Given the description of an element on the screen output the (x, y) to click on. 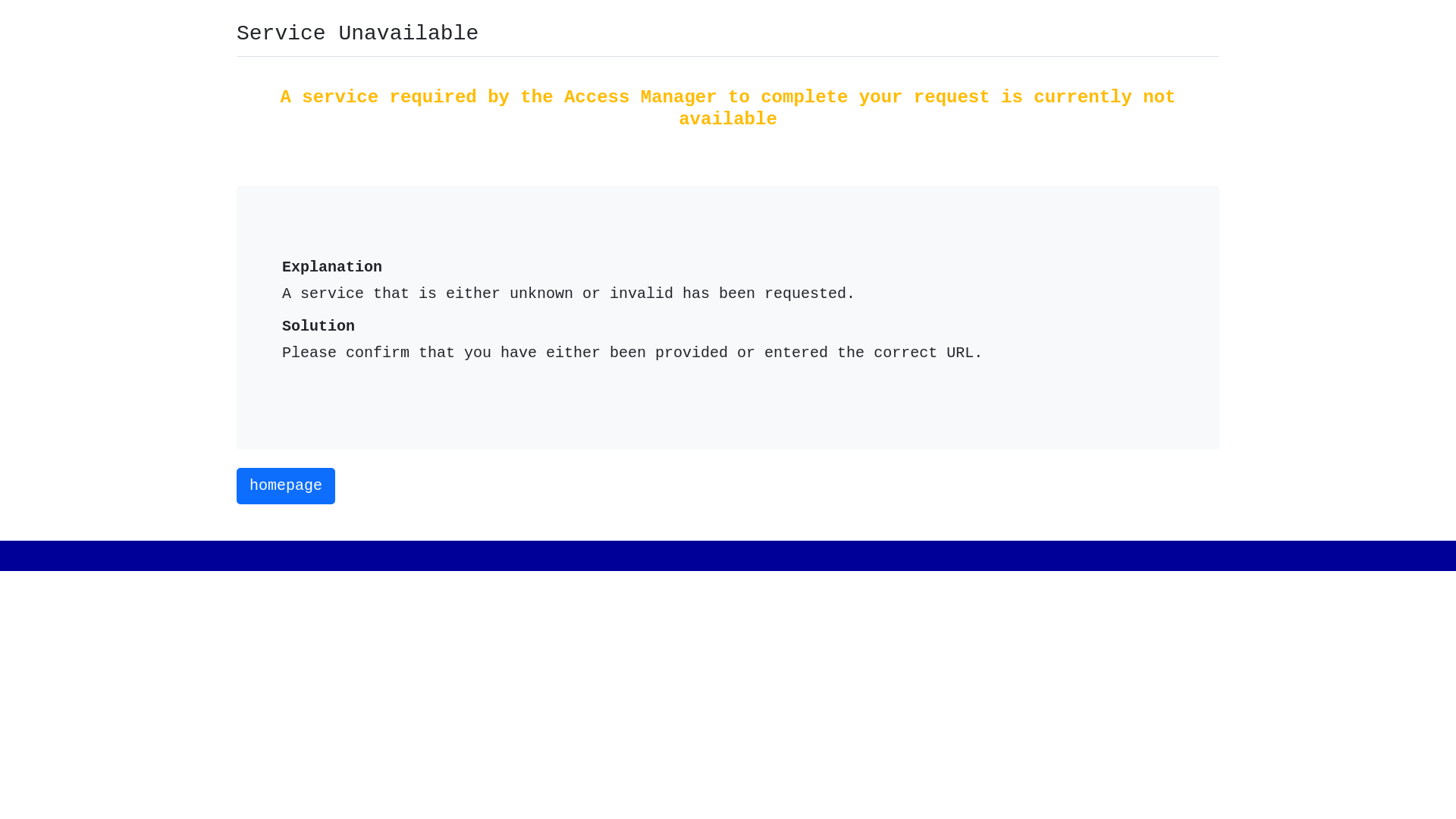
homepage Element type: text (285, 485)
